Given the description of an element on the screen output the (x, y) to click on. 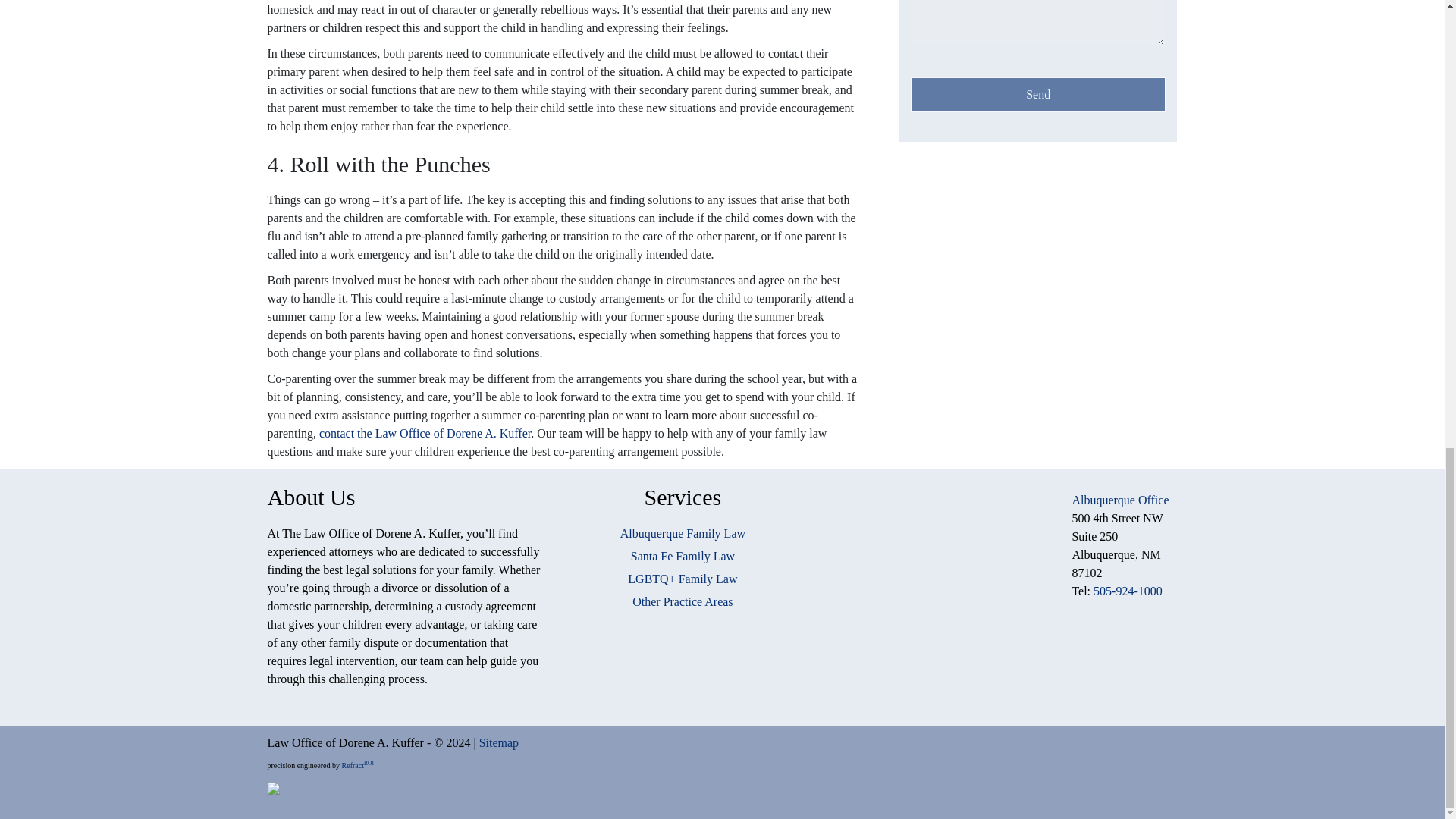
Map (935, 585)
sitemap (498, 742)
Send (1038, 94)
